Given the description of an element on the screen output the (x, y) to click on. 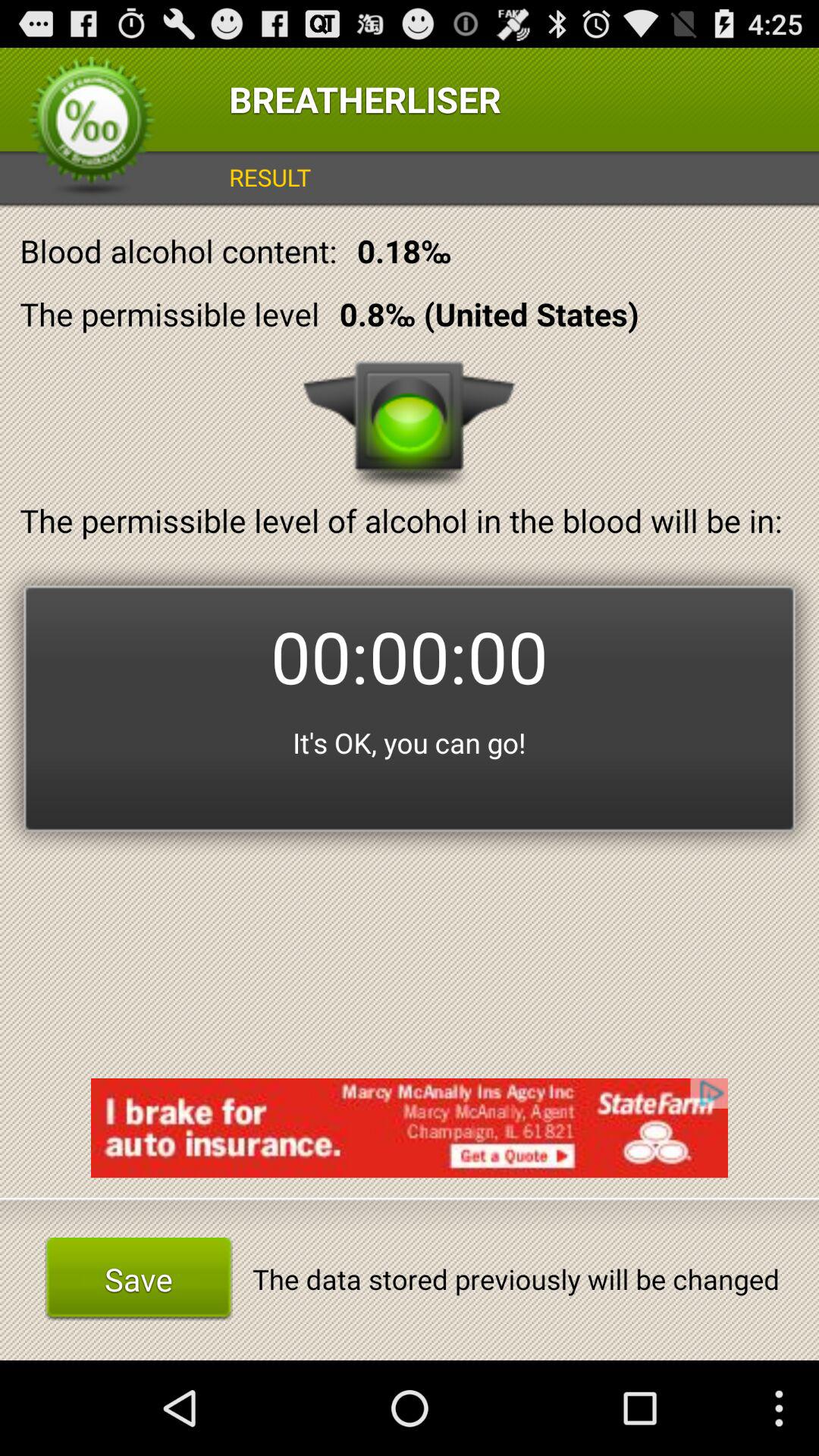
click item next to the the data stored icon (138, 1278)
